Given the description of an element on the screen output the (x, y) to click on. 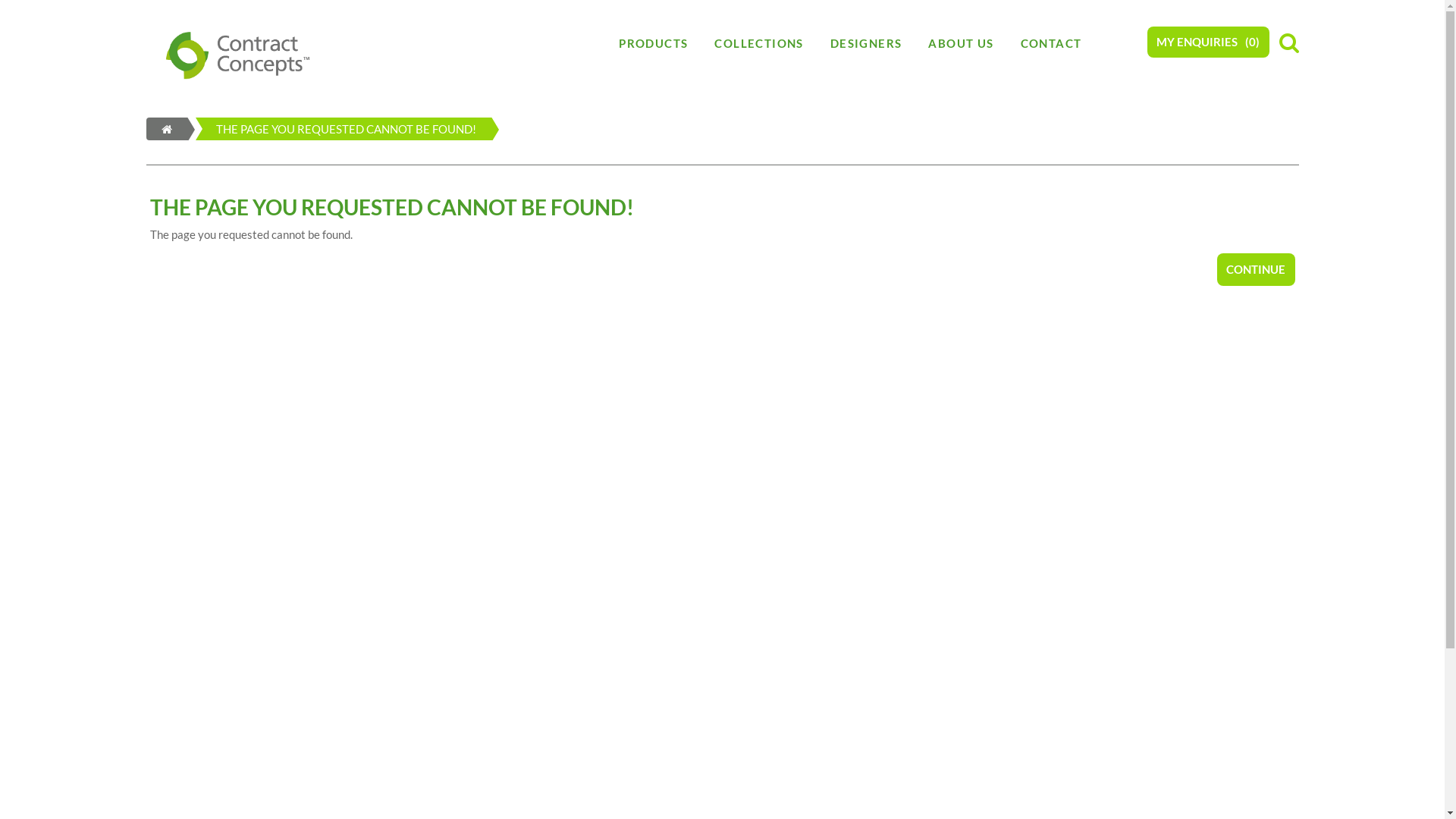
COLLECTIONS Element type: text (758, 42)
CONTACT Element type: text (1051, 42)
DESIGNERS Element type: text (866, 42)
Contract Concepts Commercial Furniture Supplier Element type: hover (238, 54)
THE PAGE YOU REQUESTED CANNOT BE FOUND! Element type: text (325, 128)
CONTINUE Element type: text (1255, 269)
PRODUCTS Element type: text (652, 42)
MY ENQUIRIES 0 Element type: text (1207, 41)
ABOUT US Element type: text (960, 42)
